Given the description of an element on the screen output the (x, y) to click on. 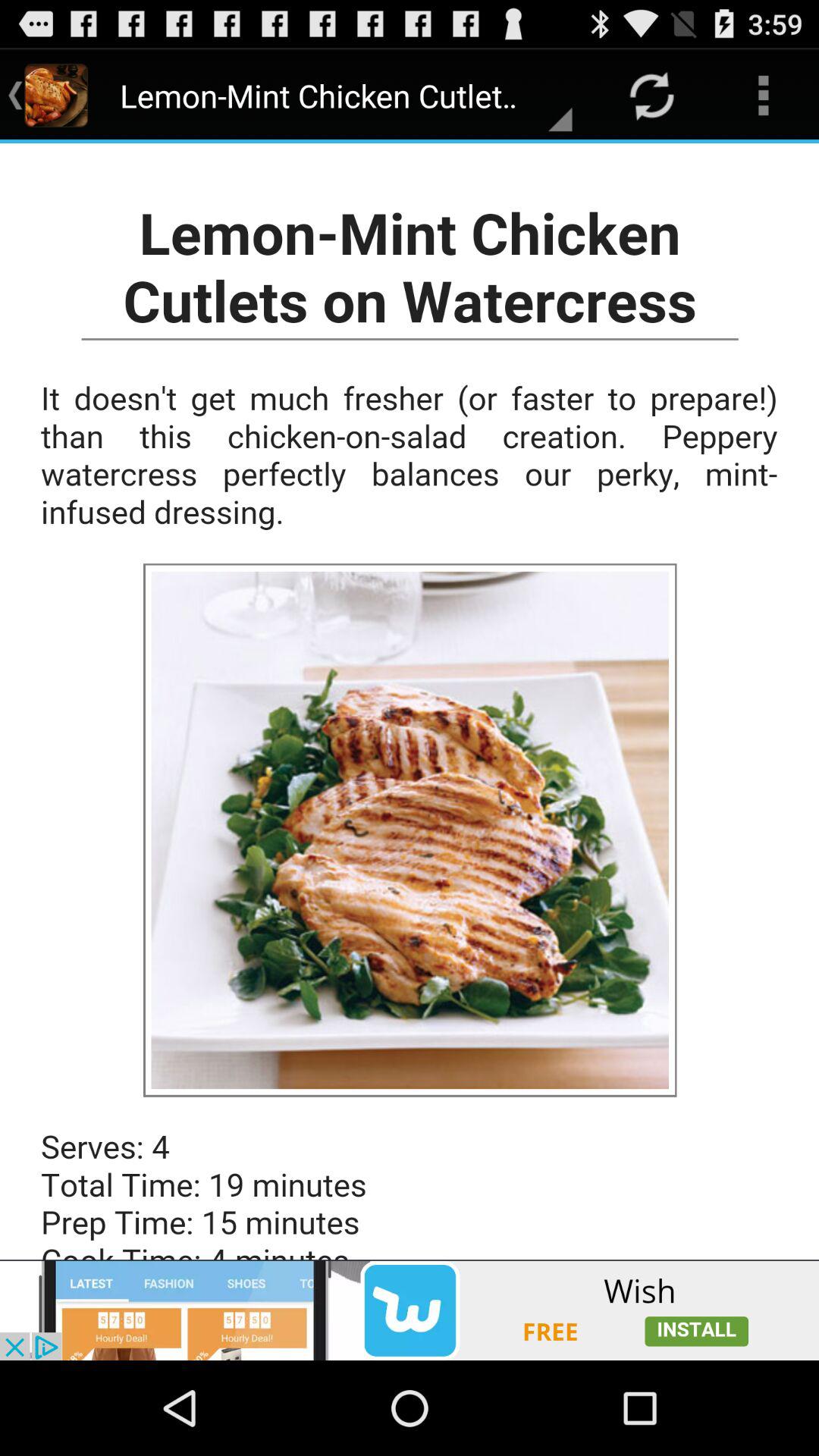
screen saver (409, 701)
